Given the description of an element on the screen output the (x, y) to click on. 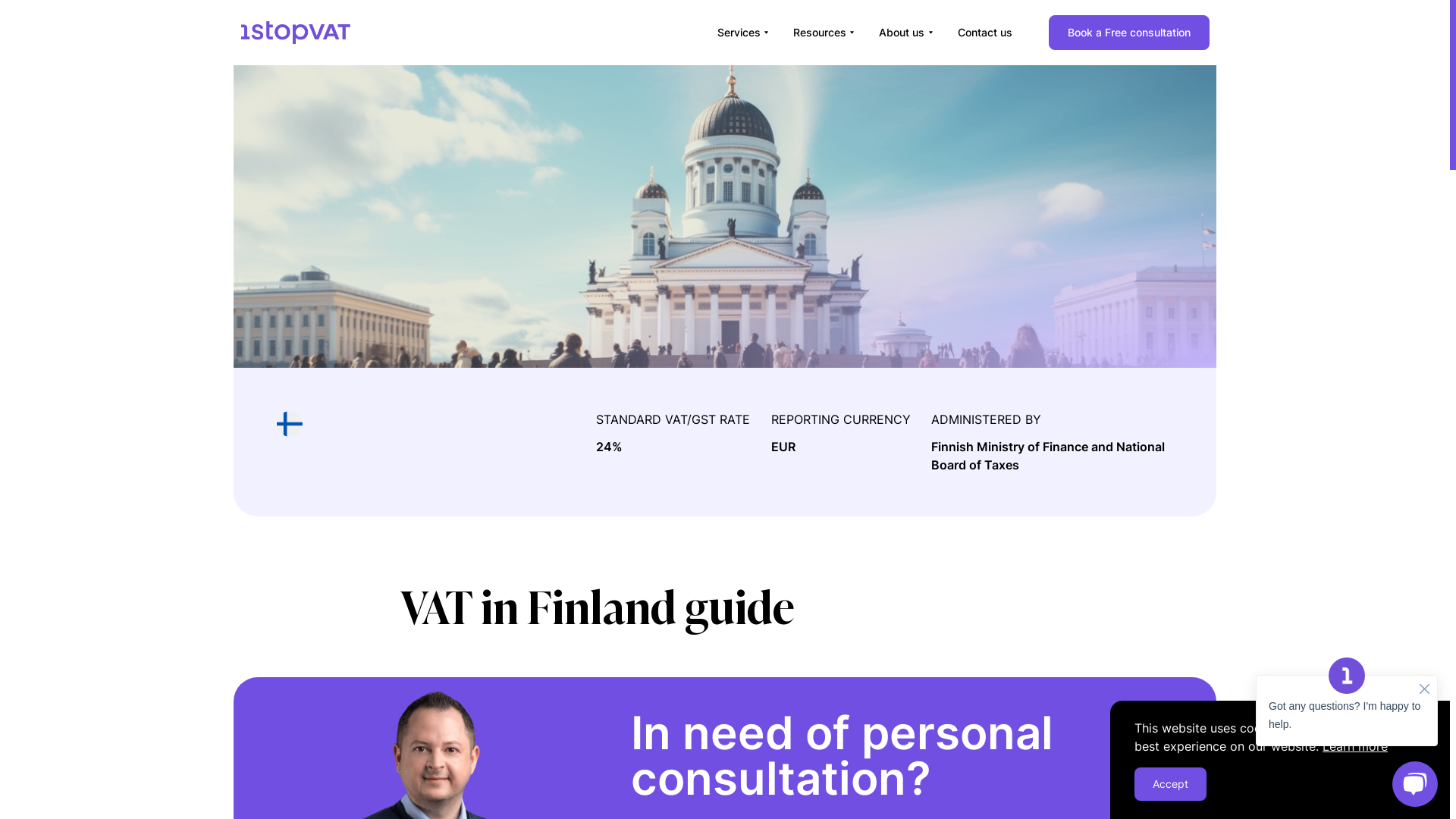
Accept Element type: text (1170, 783)
Book a Free consultation Element type: text (1128, 32)
Resources Element type: text (823, 32)
About us Element type: text (905, 32)
Learn more Element type: text (1354, 745)
Services Element type: text (742, 32)
Contact us Element type: text (984, 32)
